Given the description of an element on the screen output the (x, y) to click on. 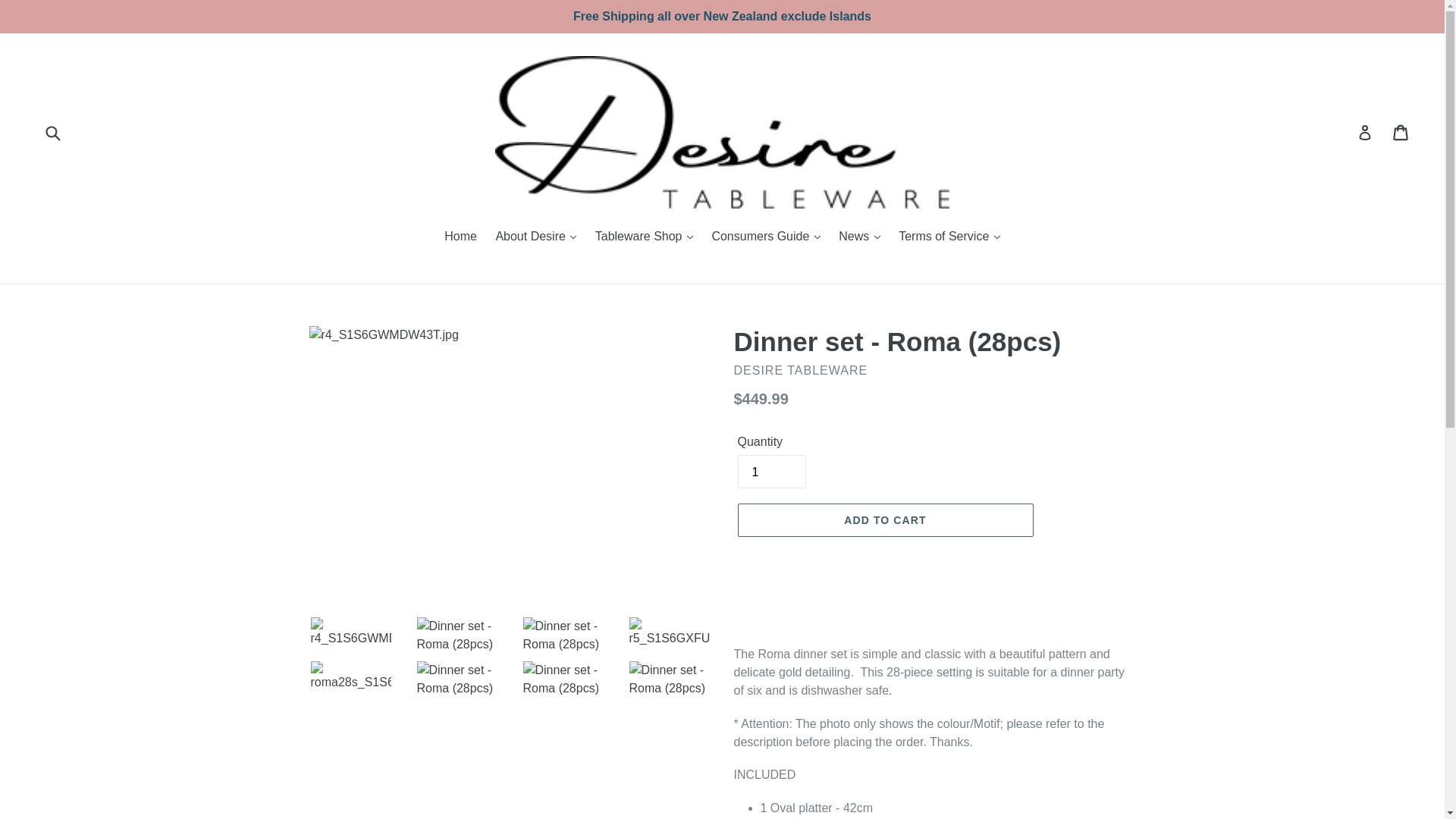
1 (770, 471)
